Given the description of an element on the screen output the (x, y) to click on. 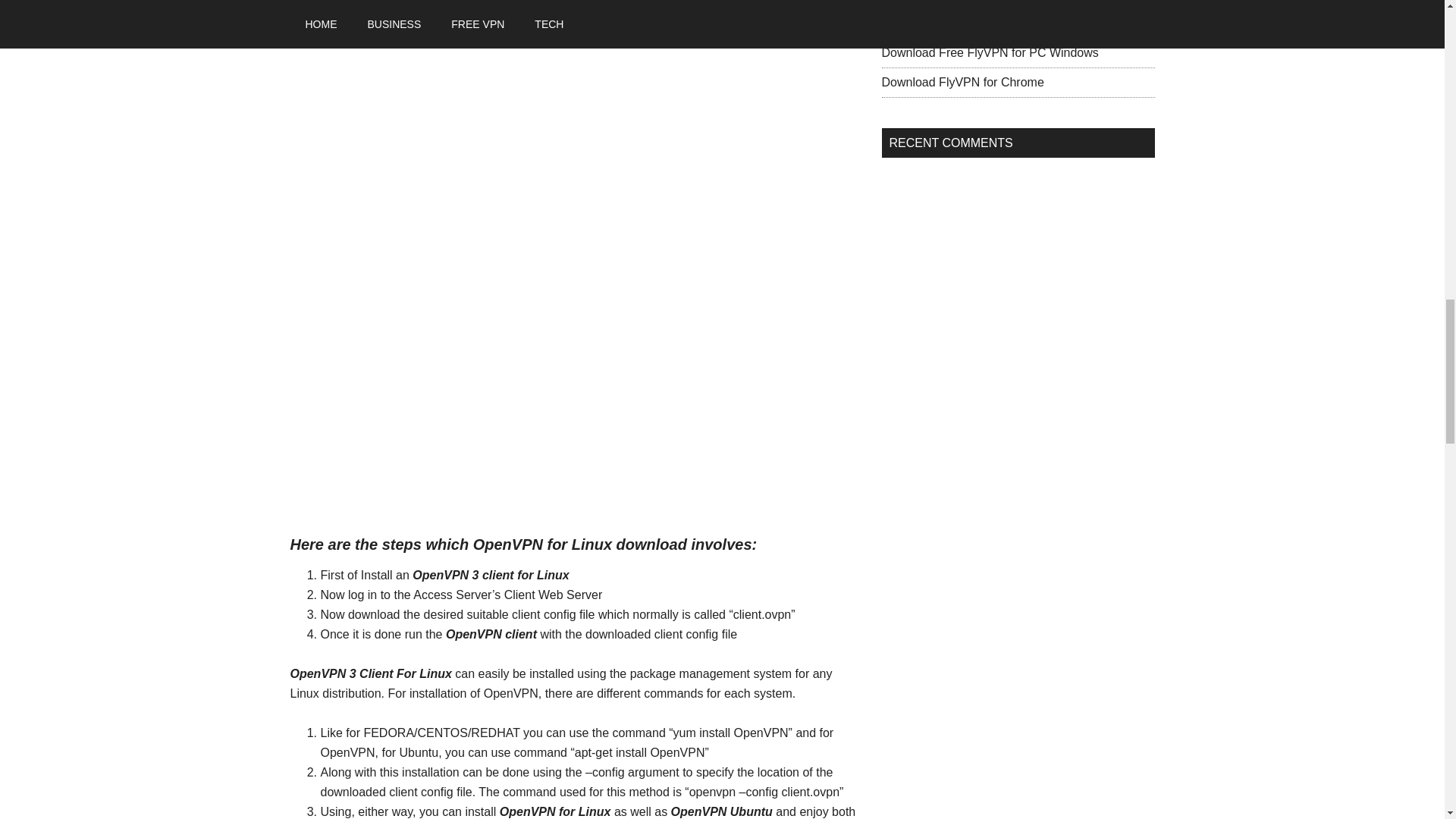
Advertisement (574, 464)
